Given the description of an element on the screen output the (x, y) to click on. 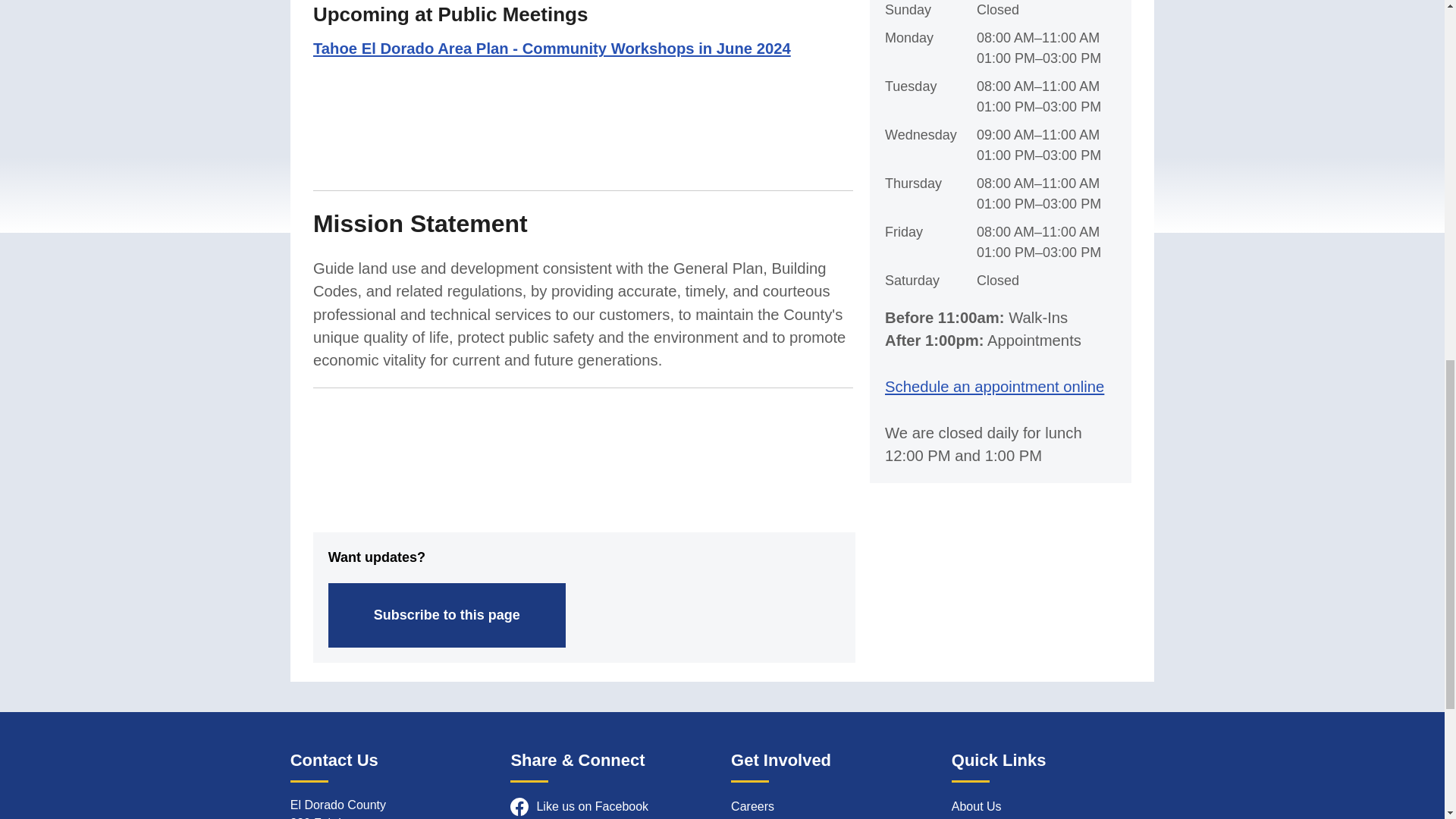
Subscribe to this page (447, 615)
